Given the description of an element on the screen output the (x, y) to click on. 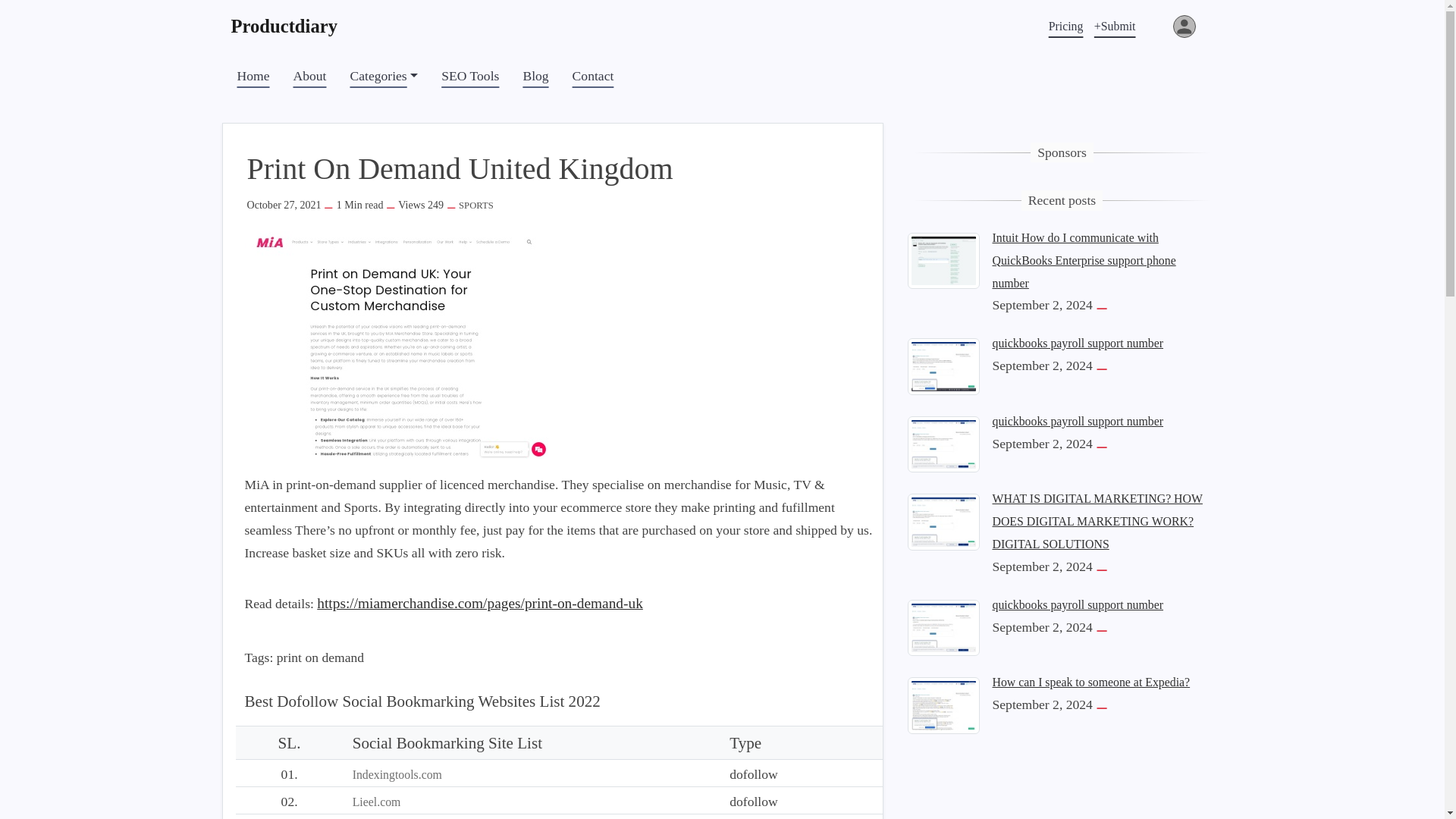
Productdiary (291, 25)
Indexingtools.com (397, 774)
quickbooks payroll support number (943, 365)
Pricing (1066, 25)
SEO Tools (470, 76)
Categories (383, 76)
quickbooks payroll support number (1077, 342)
Blog (535, 76)
